Given the description of an element on the screen output the (x, y) to click on. 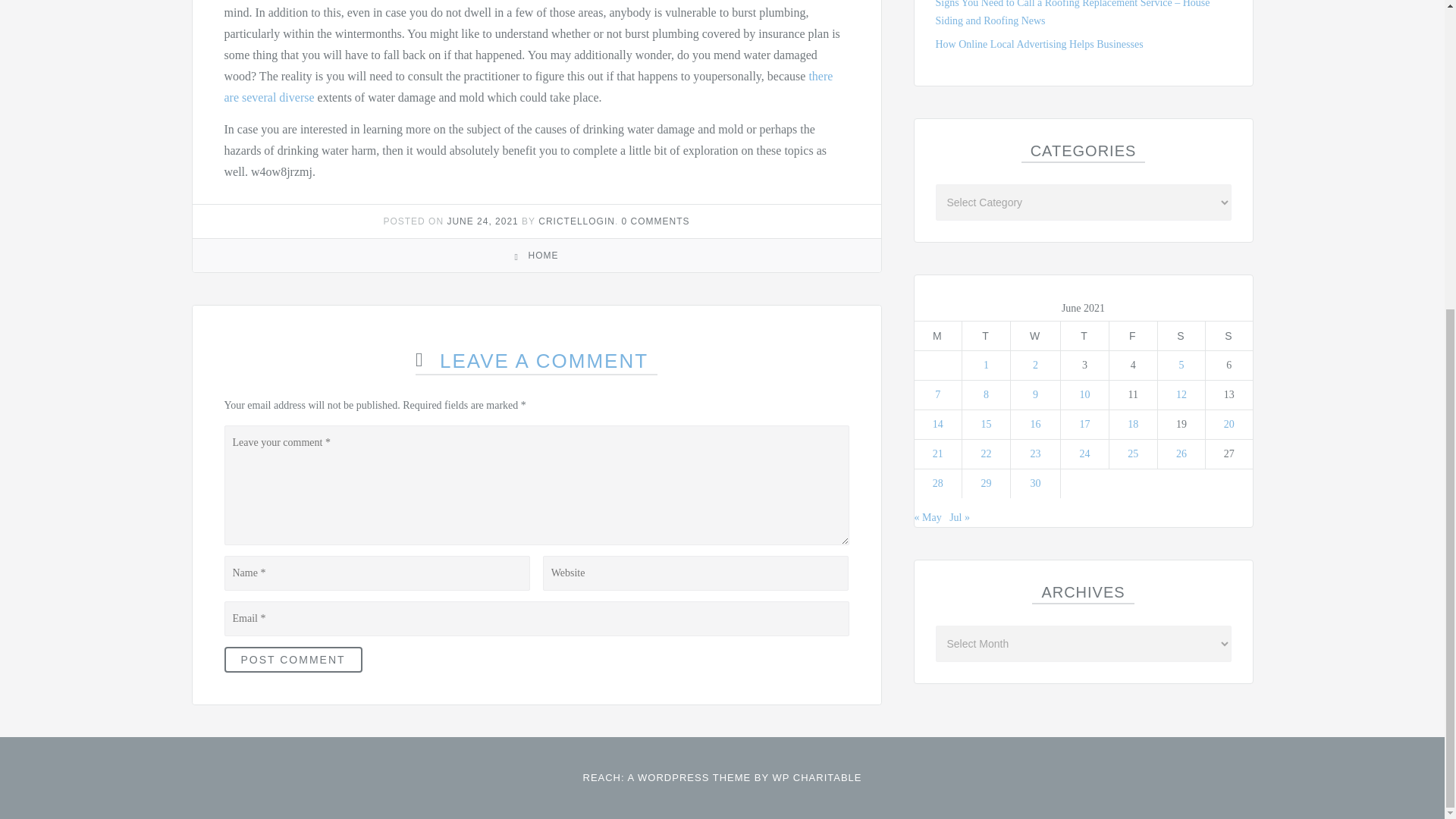
25 (1132, 453)
22 (985, 453)
there are several diverse (528, 86)
Thursday (1085, 335)
0 COMMENTS (655, 221)
Wednesday (1035, 335)
10 (1085, 394)
Monday (938, 335)
15 (985, 423)
Tuesday (986, 335)
17 (1085, 423)
CRICTELLOGIN (576, 221)
28 (938, 482)
20 (1229, 423)
Sunday (1228, 335)
